Given the description of an element on the screen output the (x, y) to click on. 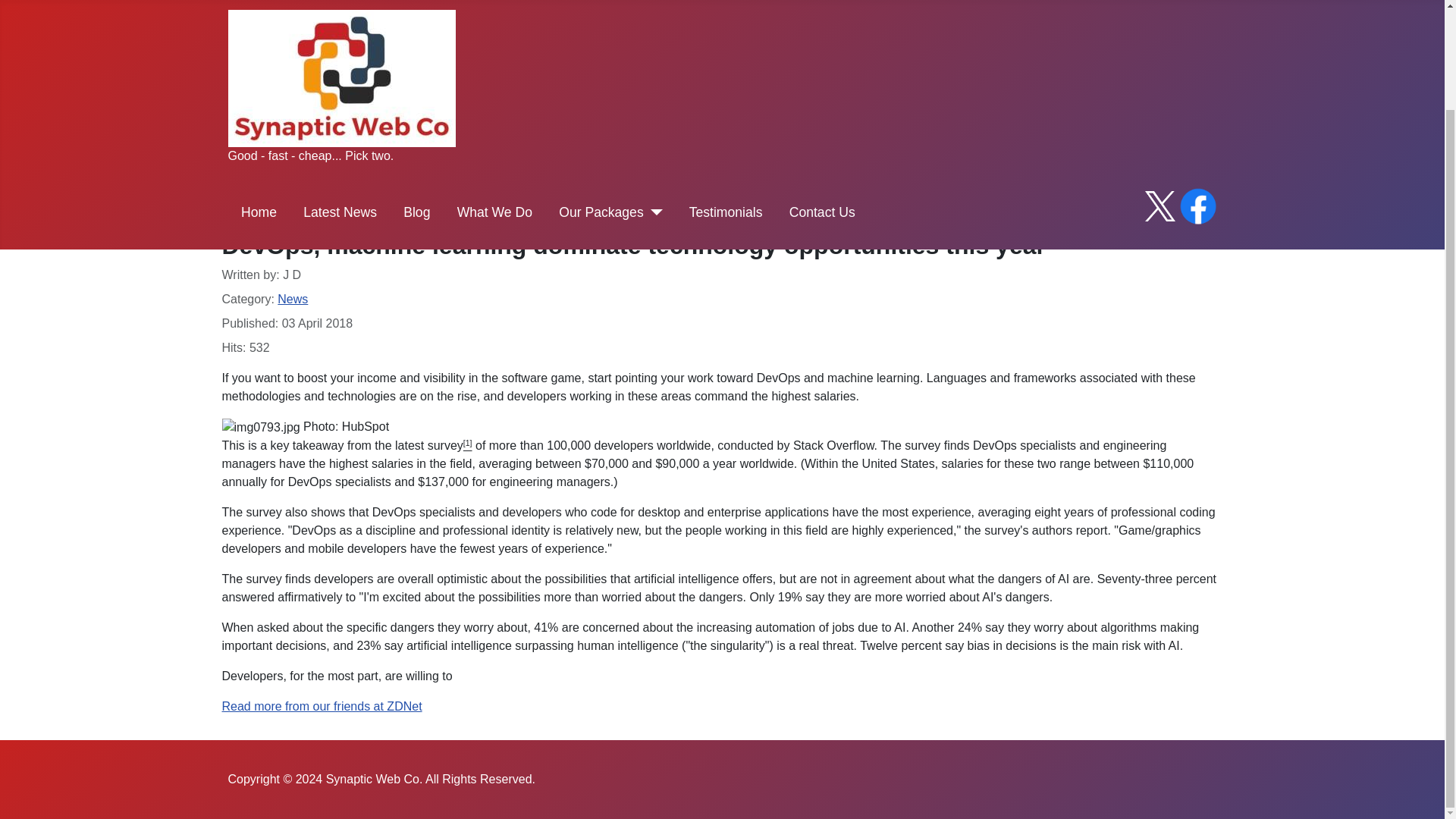
News (376, 160)
Read more from our friends at ZDNet (321, 706)
Testimonials (725, 96)
Our Packages (601, 96)
Home (258, 96)
News (292, 298)
survey (445, 445)
Blog (416, 96)
What We Do (494, 96)
DevOps, machine learning dominate technology oppor (321, 706)
